Given the description of an element on the screen output the (x, y) to click on. 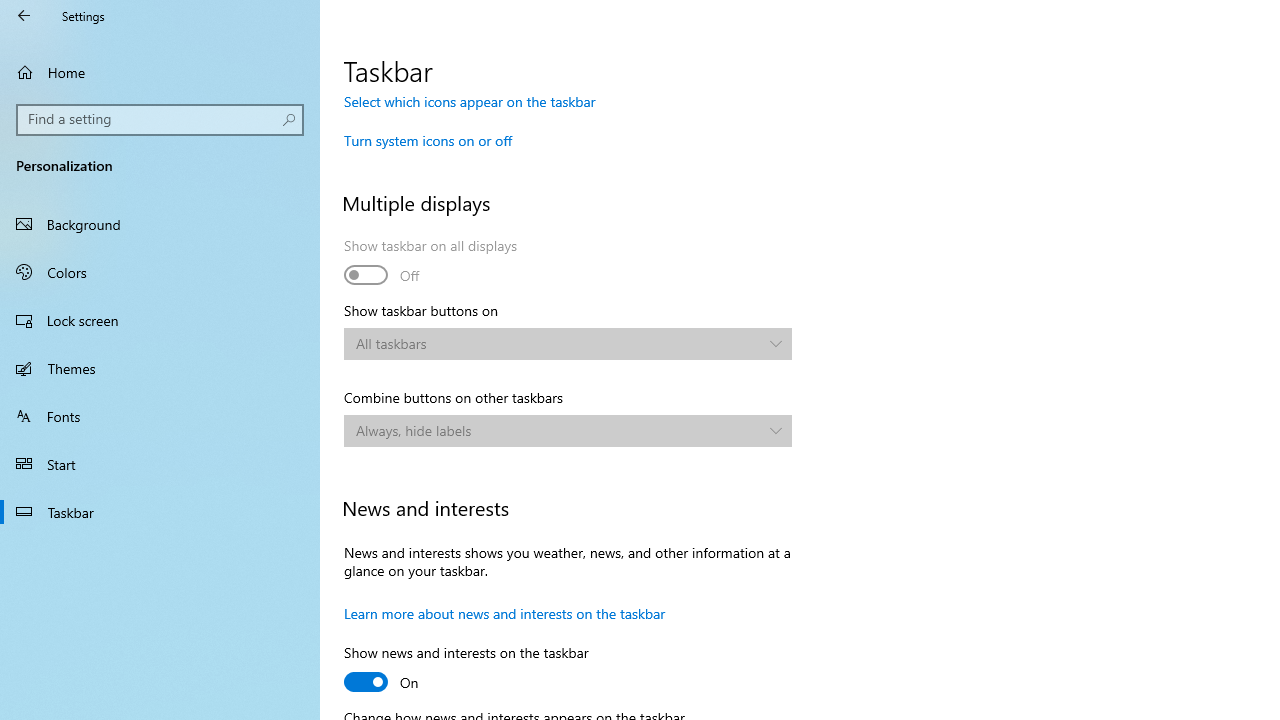
Search box, Find a setting (160, 119)
Turn system icons on or off (428, 140)
Lock screen (160, 319)
Themes (160, 367)
Learn more about news and interests on the taskbar (504, 613)
Background (160, 223)
Taskbar (160, 511)
Select which icons appear on the taskbar (470, 101)
Colors (160, 271)
All taskbars (557, 343)
Show news and interests on the taskbar (466, 669)
Show taskbar on all displays (431, 263)
Show taskbar buttons on (568, 344)
Always, hide labels (557, 430)
